Given the description of an element on the screen output the (x, y) to click on. 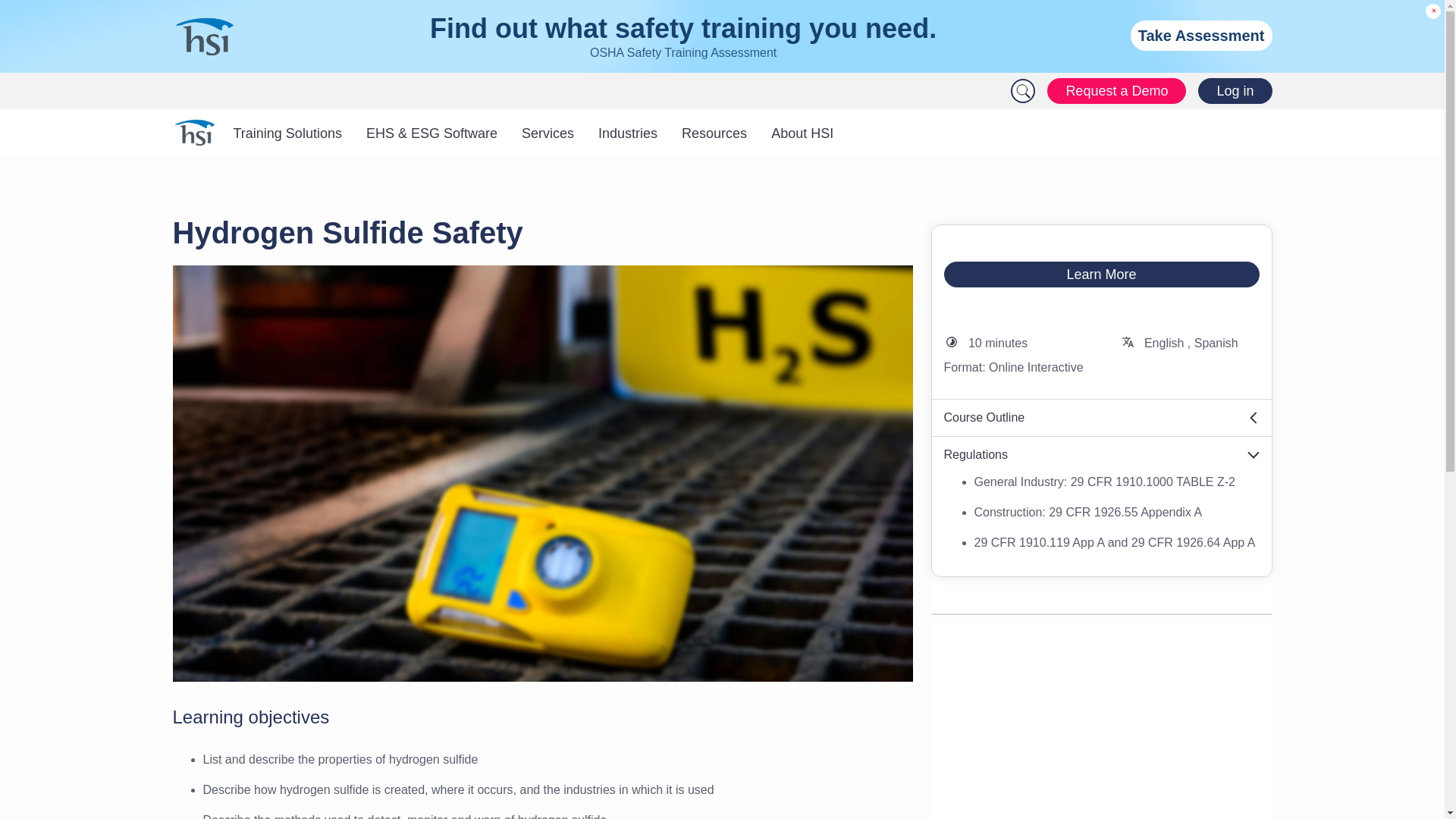
Opens in a new window (1101, 454)
Log in (1234, 90)
Take Assessment (1201, 35)
Request a Demo (1116, 90)
Training Solutions (287, 133)
Opens in a new window (1101, 417)
